Given the description of an element on the screen output the (x, y) to click on. 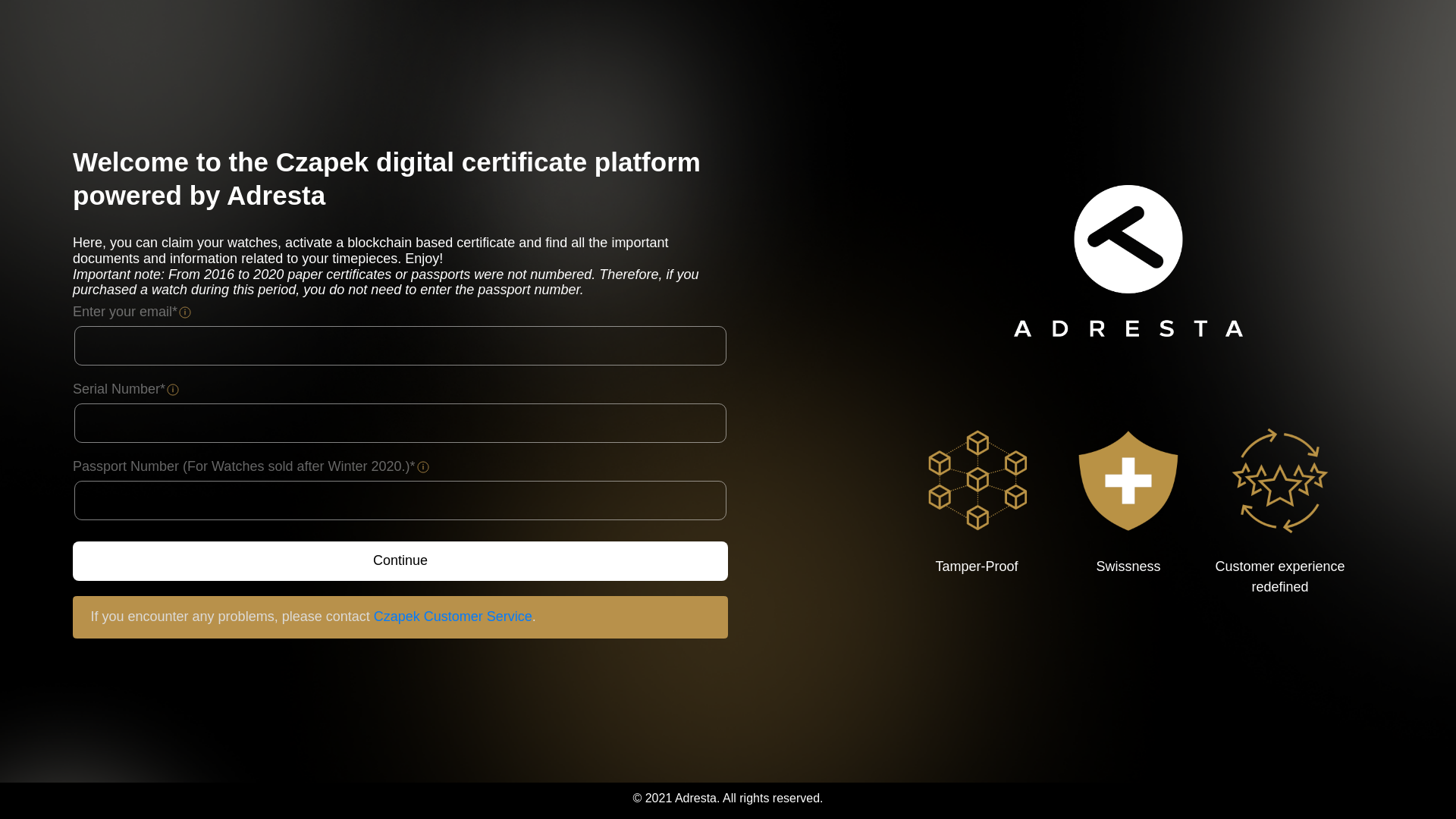
Czapek Customer Service Element type: text (452, 616)
Continue Element type: text (400, 560)
